Given the description of an element on the screen output the (x, y) to click on. 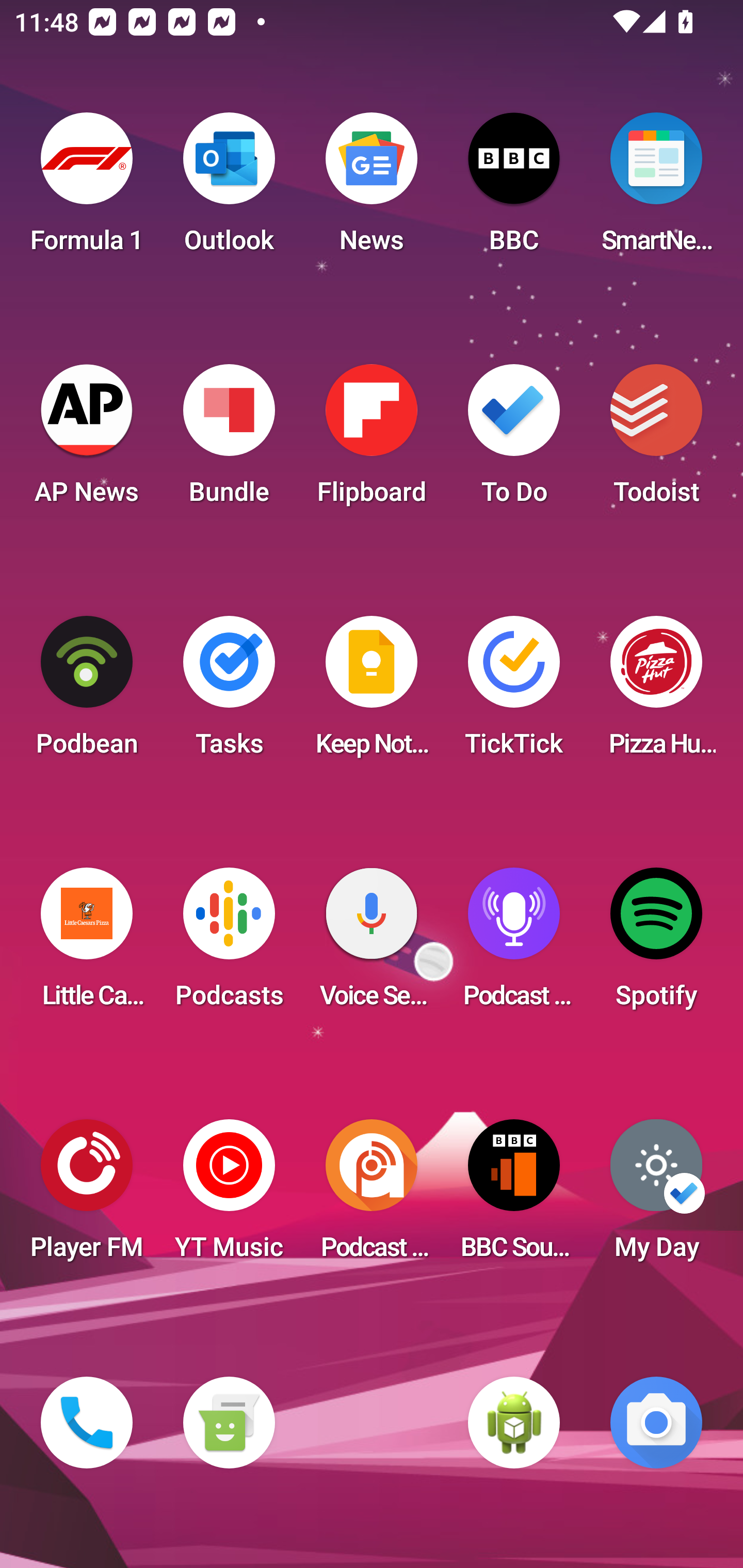
Formula 1 (86, 188)
Outlook (228, 188)
News (371, 188)
BBC (513, 188)
SmartNews (656, 188)
AP News (86, 440)
Bundle (228, 440)
Flipboard (371, 440)
To Do (513, 440)
Todoist (656, 440)
Podbean (86, 692)
Tasks (228, 692)
Keep Notes (371, 692)
TickTick (513, 692)
Pizza Hut HK & Macau (656, 692)
Little Caesars Pizza (86, 943)
Podcasts (228, 943)
Voice Search (371, 943)
Podcast Player (513, 943)
Spotify (656, 943)
Player FM (86, 1195)
YT Music (228, 1195)
Podcast Addict (371, 1195)
BBC Sounds (513, 1195)
My Day (656, 1195)
Phone (86, 1422)
Messaging (228, 1422)
WebView Browser Tester (513, 1422)
Camera (656, 1422)
